Given the description of an element on the screen output the (x, y) to click on. 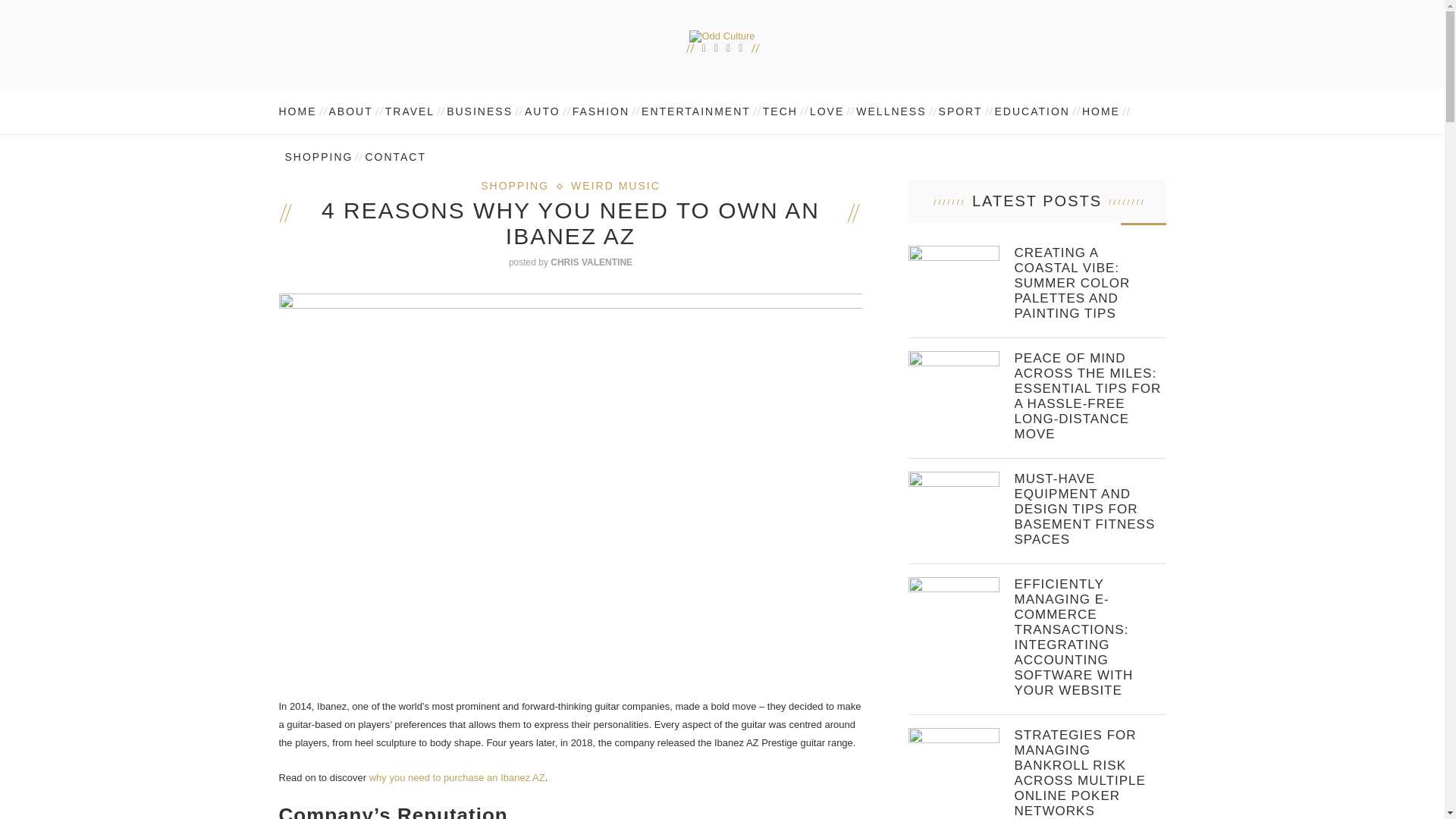
SHOPPING (319, 156)
ENTERTAINMENT (695, 111)
TRAVEL (409, 111)
View all posts in Weird Music (615, 185)
LOVE (826, 111)
SPORT (960, 111)
